Given the description of an element on the screen output the (x, y) to click on. 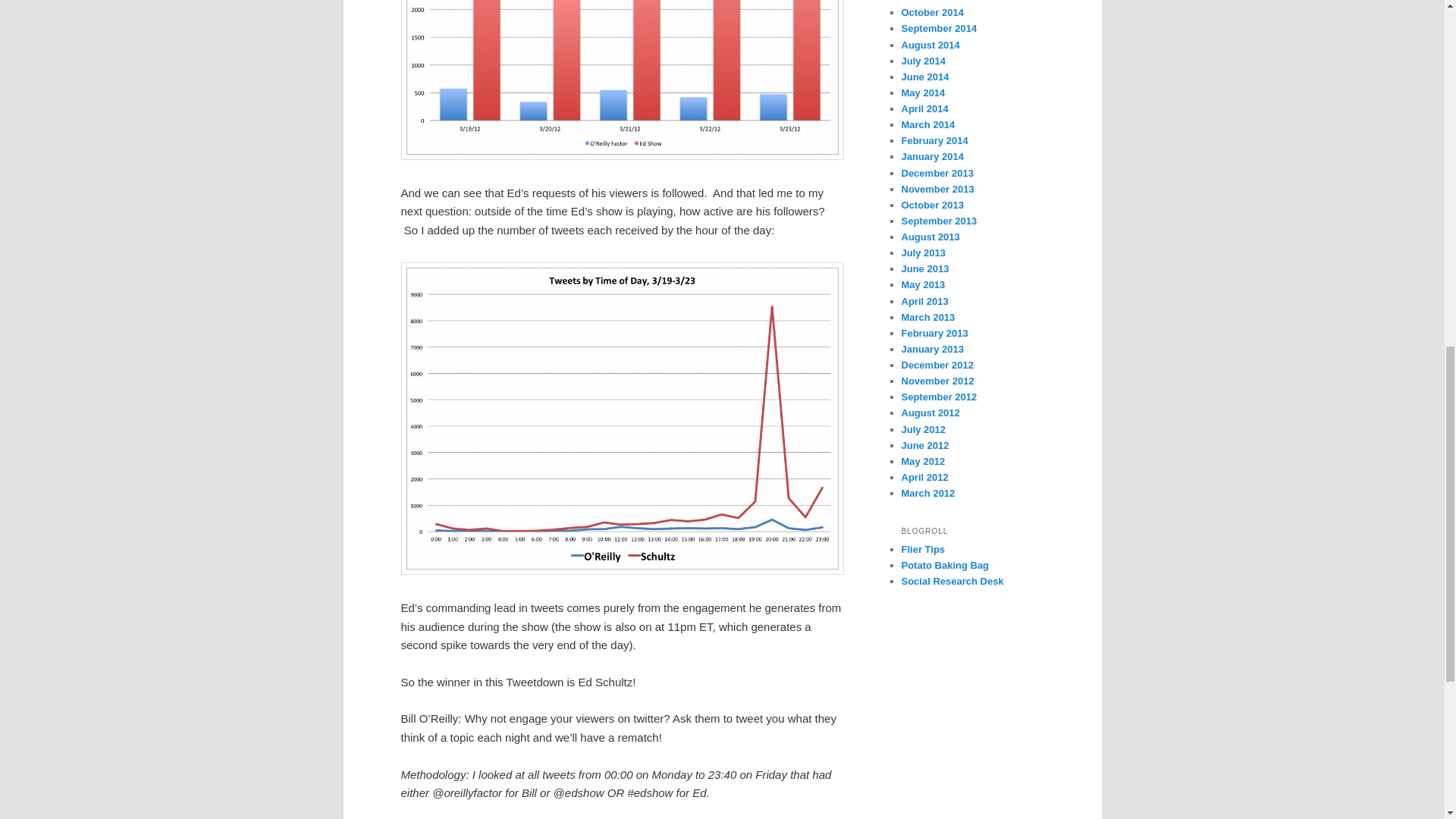
Useful utilities for analyzing Twitter (952, 581)
Tips, Ideas, and Insight for Travelers (922, 549)
Bill-v-Ed (621, 79)
